Given the description of an element on the screen output the (x, y) to click on. 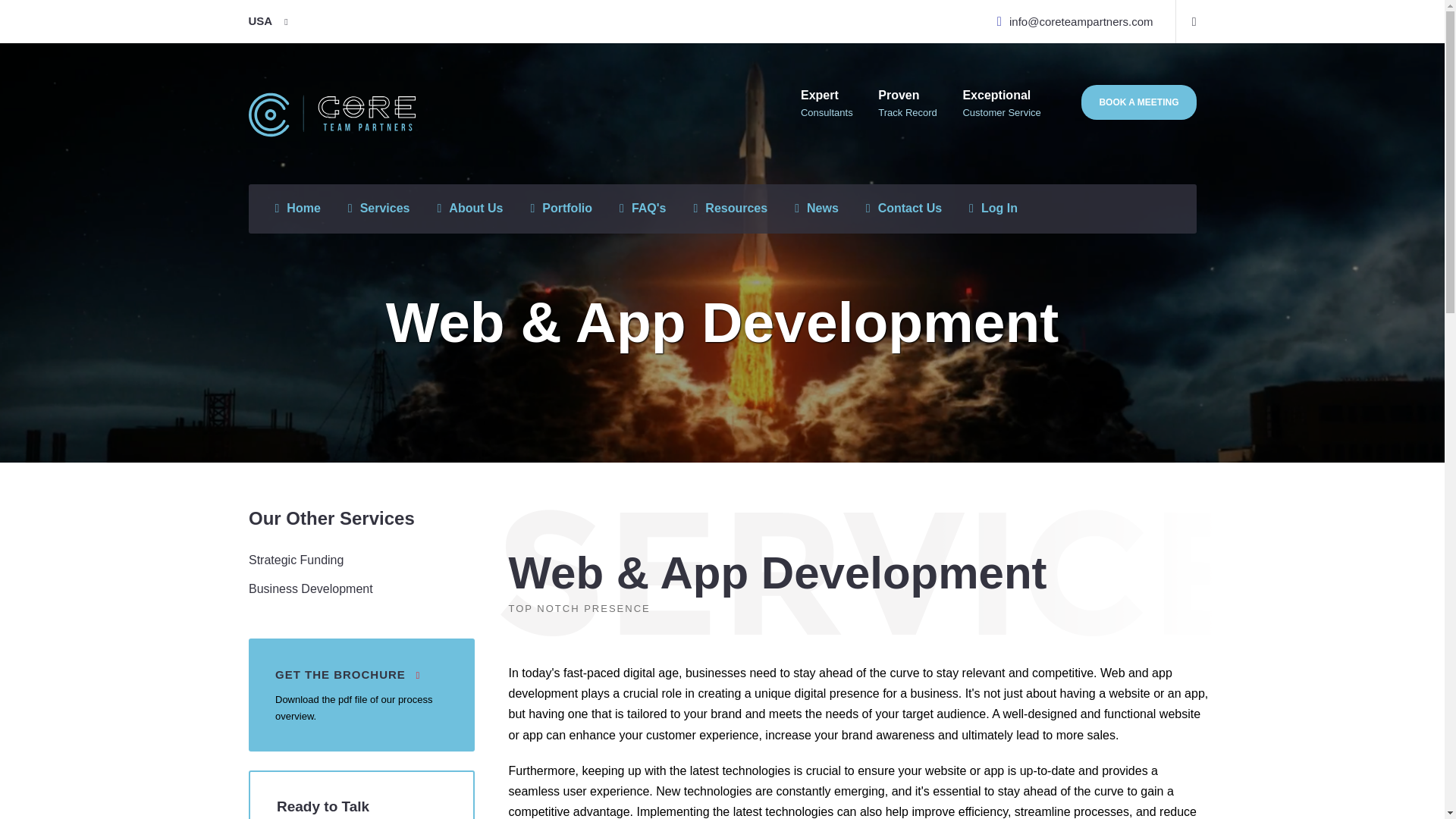
News (816, 215)
FAQ's (642, 215)
Contact Us (904, 215)
Strategic Funding (295, 559)
Services (378, 215)
Log In (993, 215)
Core Team Partners (297, 215)
Business Development (310, 588)
Services (378, 215)
Core Team Partners (331, 113)
About Us (469, 215)
Quote (1138, 102)
Home (297, 215)
Resources (730, 215)
BOOK A MEETING (1242, 102)
